Given the description of an element on the screen output the (x, y) to click on. 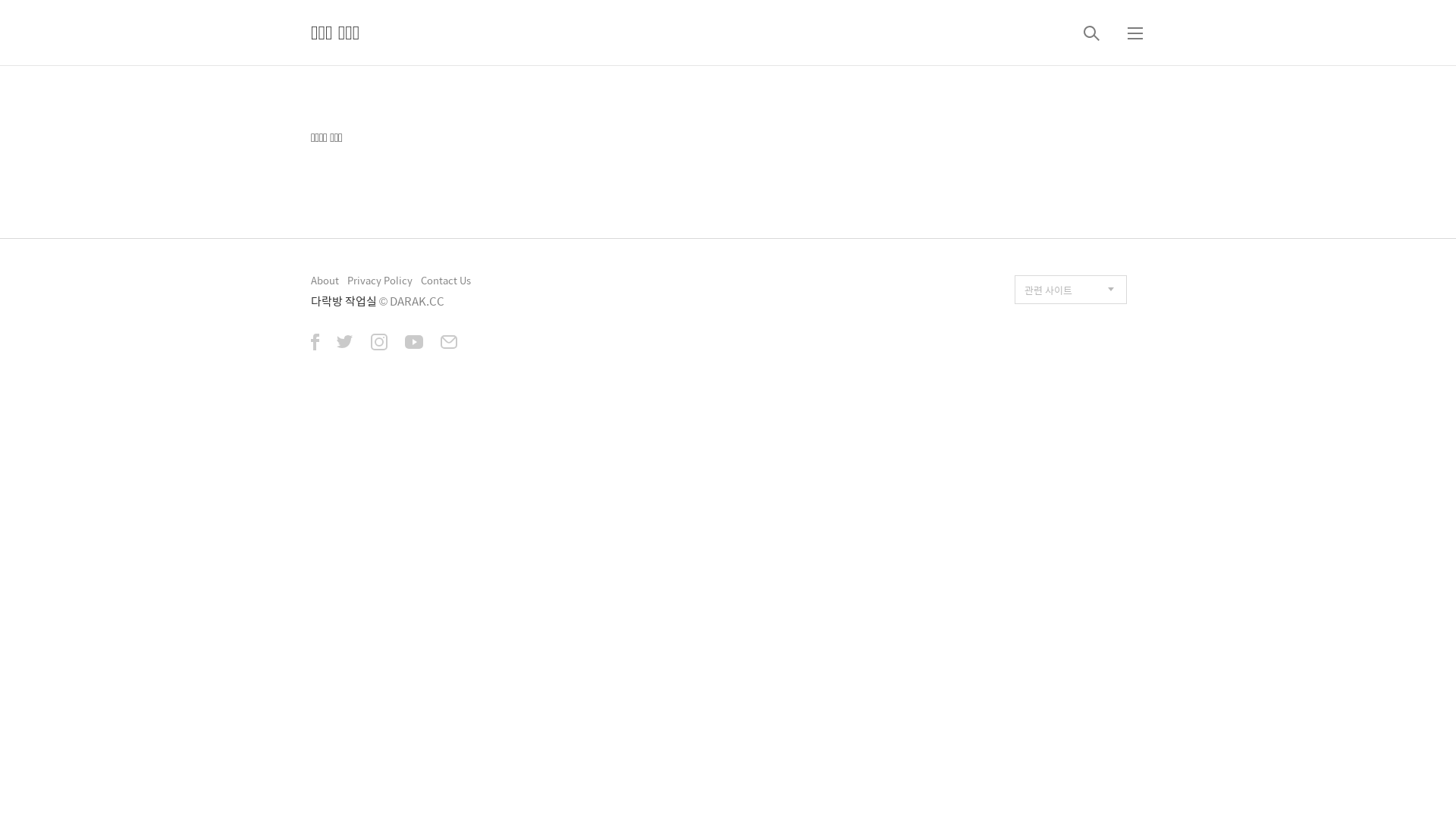
Contact Us Element type: text (445, 280)
instagram Element type: hover (378, 343)
About Element type: text (324, 280)
mail Element type: hover (448, 343)
Privacy Policy Element type: text (379, 280)
twitter Element type: hover (344, 343)
facebook Element type: hover (314, 343)
youtube Element type: hover (413, 343)
